Given the description of an element on the screen output the (x, y) to click on. 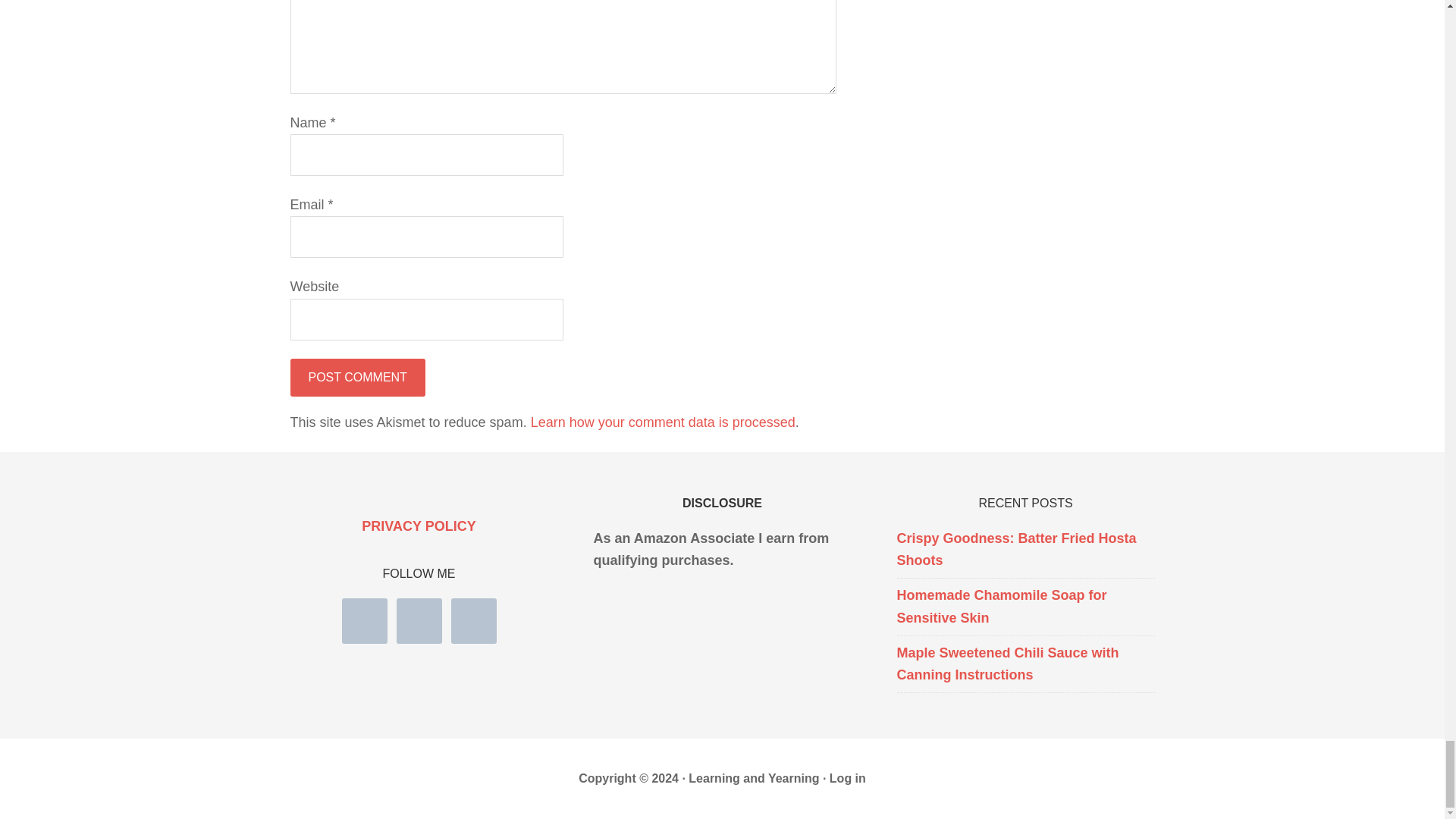
Post Comment (357, 377)
